Given the description of an element on the screen output the (x, y) to click on. 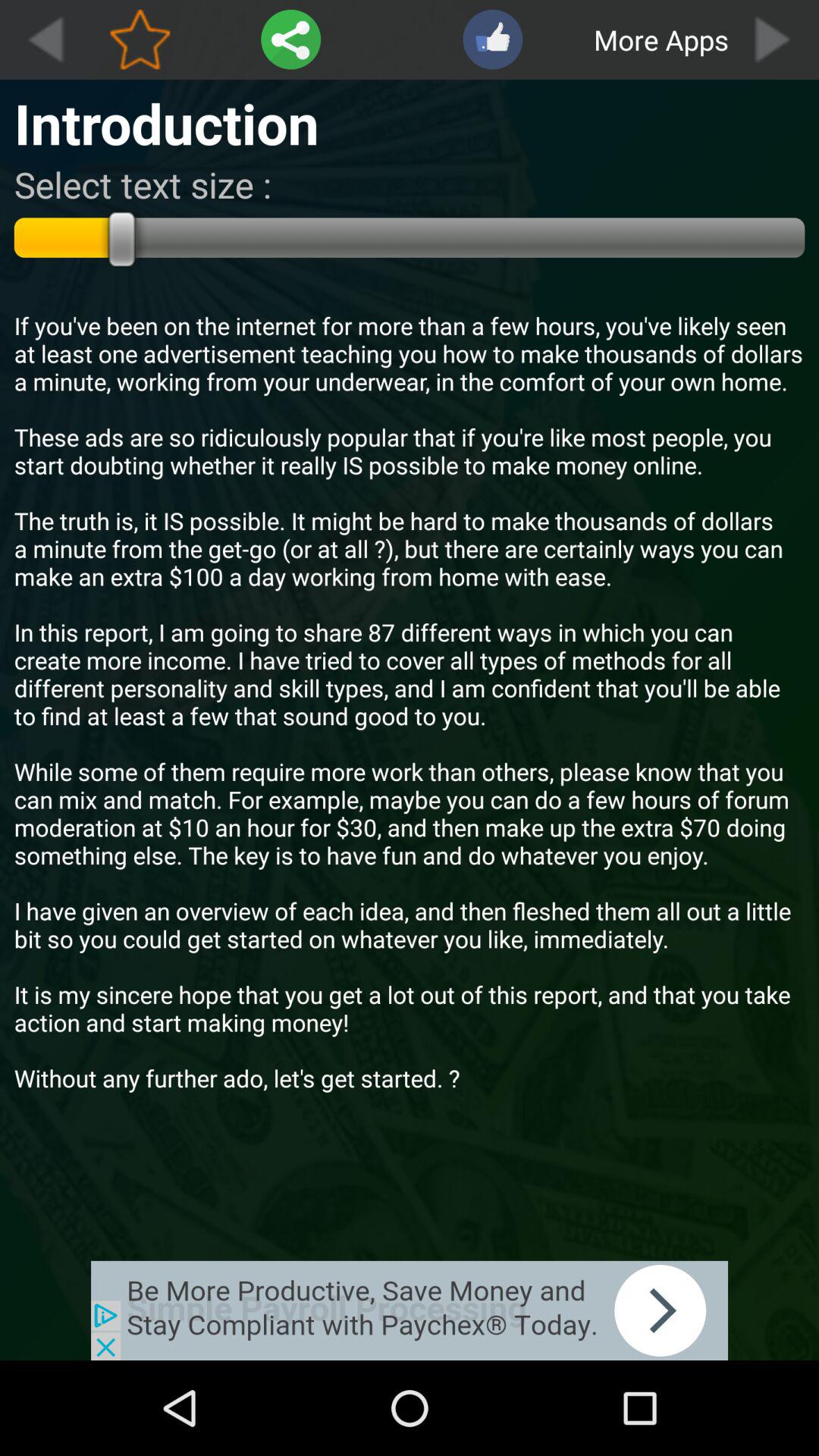
go to previous page (45, 39)
